Given the description of an element on the screen output the (x, y) to click on. 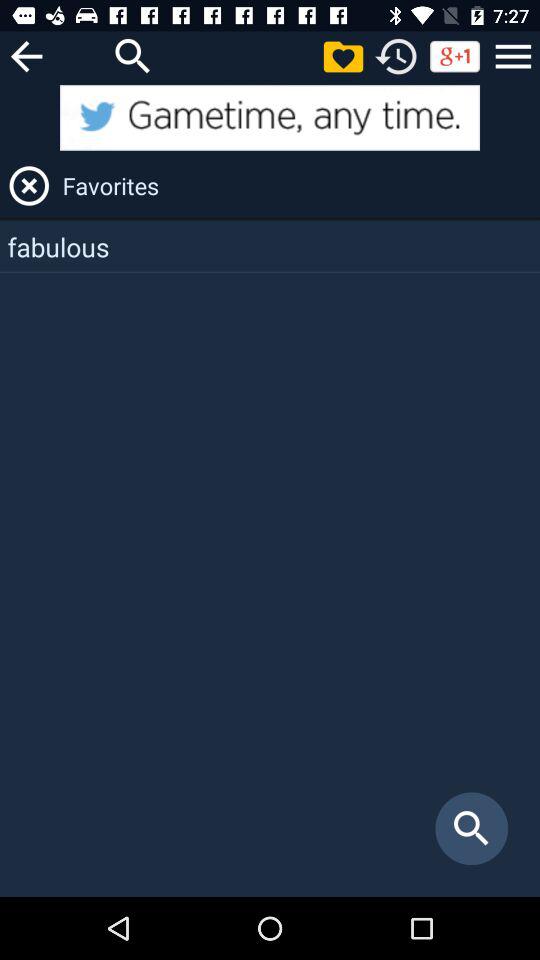
select the app above favorites app (513, 56)
